Given the description of an element on the screen output the (x, y) to click on. 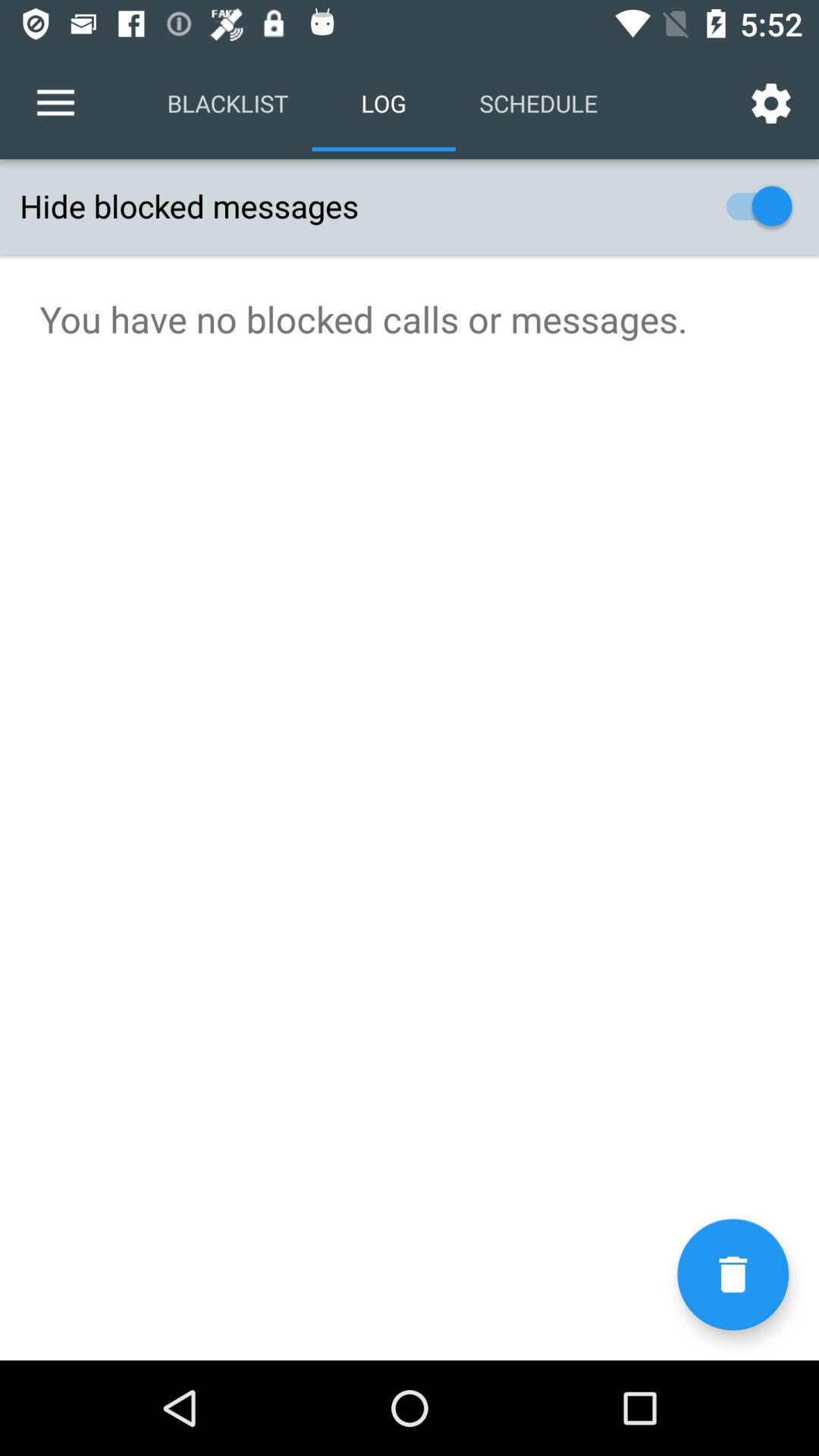
press the icon to the right of schedule (771, 103)
